Given the description of an element on the screen output the (x, y) to click on. 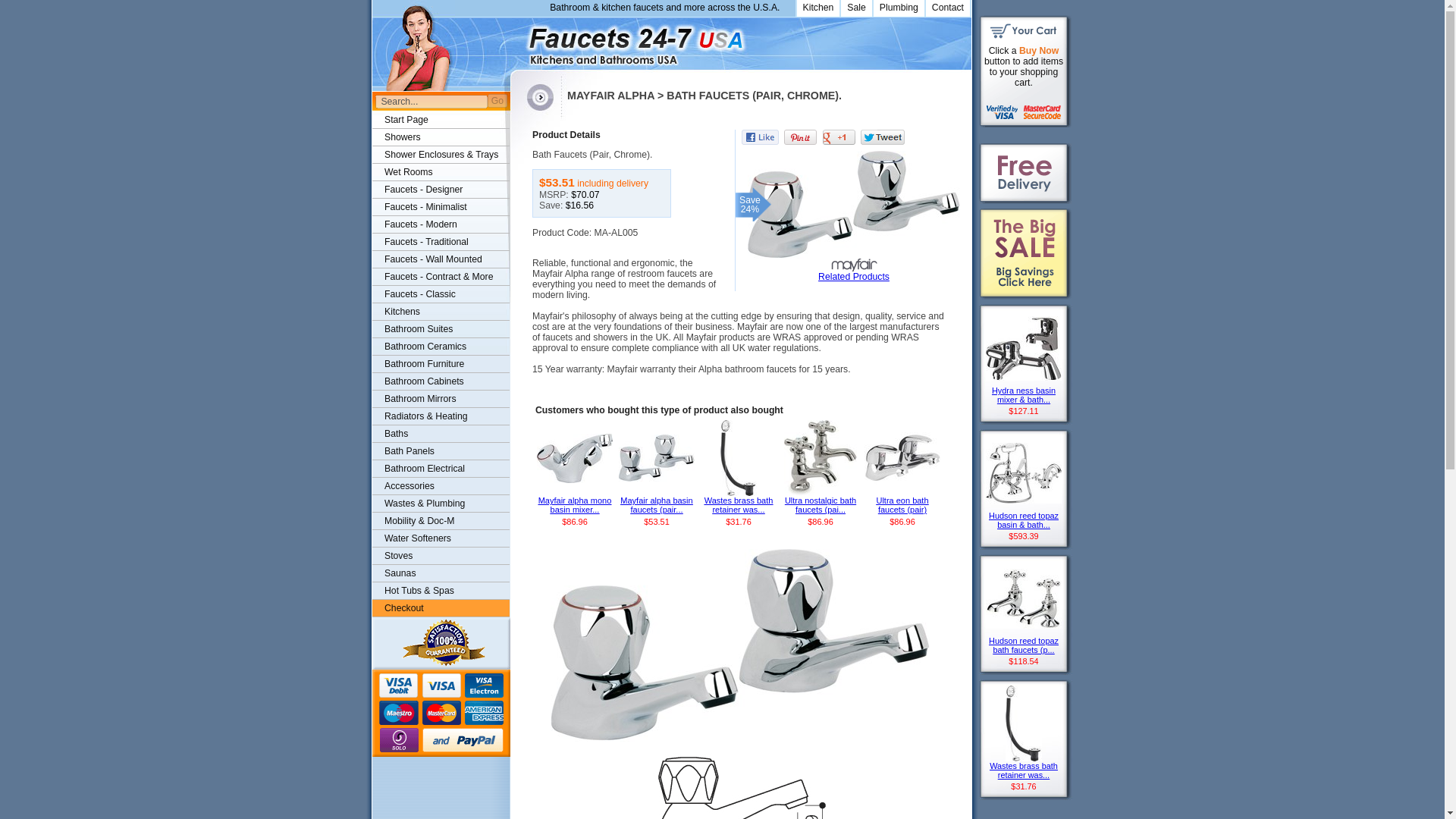
Bathroom Furniture (440, 364)
Bathroom Cabinets (440, 381)
Start Page (440, 119)
Showers (440, 137)
Go (496, 100)
Contact (946, 8)
Faucets - Classic (440, 294)
Mayfair alpha mono basin mixer... (574, 507)
Plumbing (898, 8)
Bathroom Mirrors (440, 398)
Sale (856, 8)
Faucets - Wall Mounted (440, 259)
Bathroom Electrical (440, 468)
Share on Pinterest (800, 136)
Share on FaceBook (759, 136)
